Given the description of an element on the screen output the (x, y) to click on. 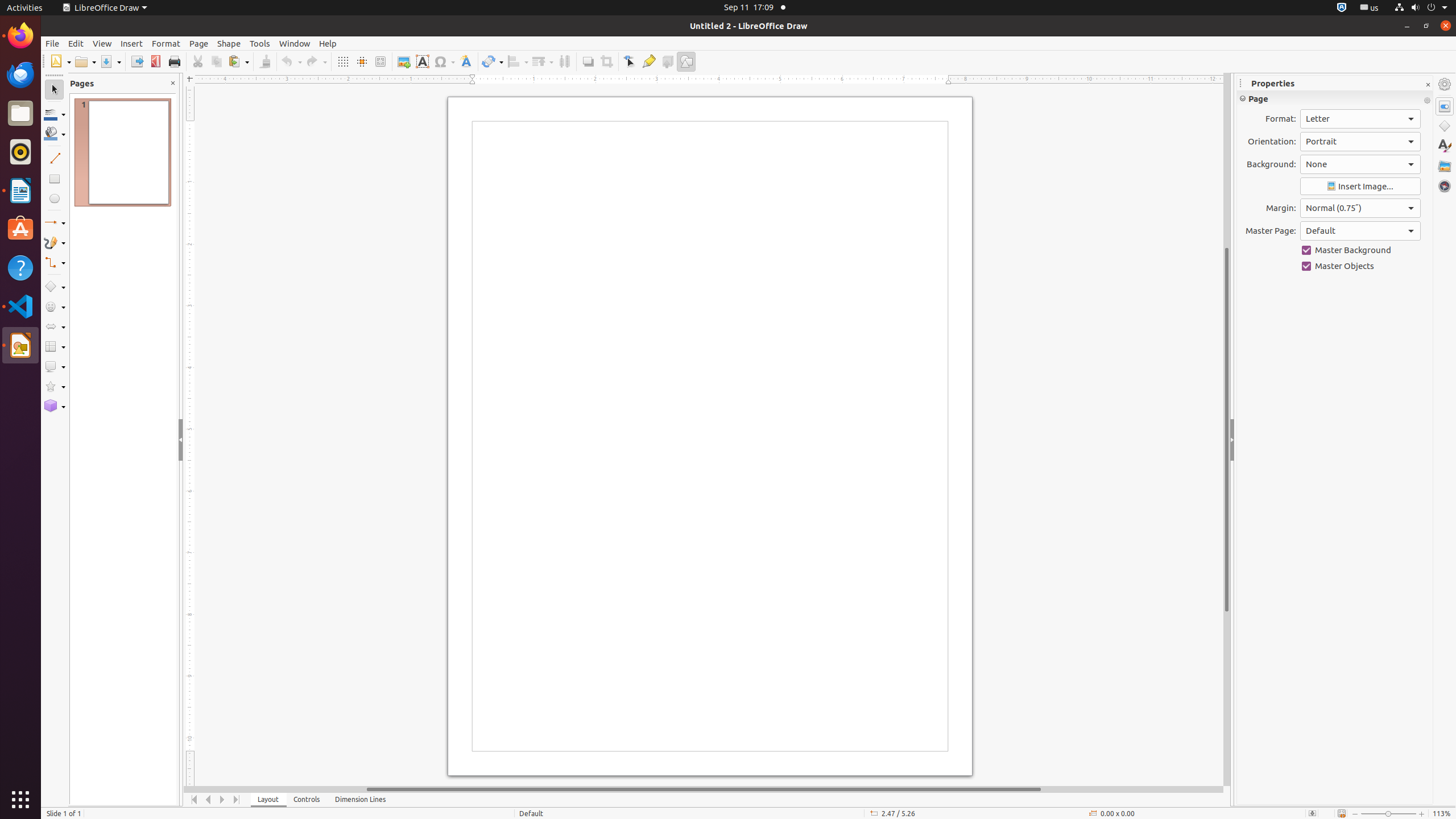
Export Element type: push-button (136, 61)
Margin: Element type: combo-box (1360, 207)
Gallery Element type: radio-button (1444, 165)
Line Color Element type: push-button (54, 113)
